Given the description of an element on the screen output the (x, y) to click on. 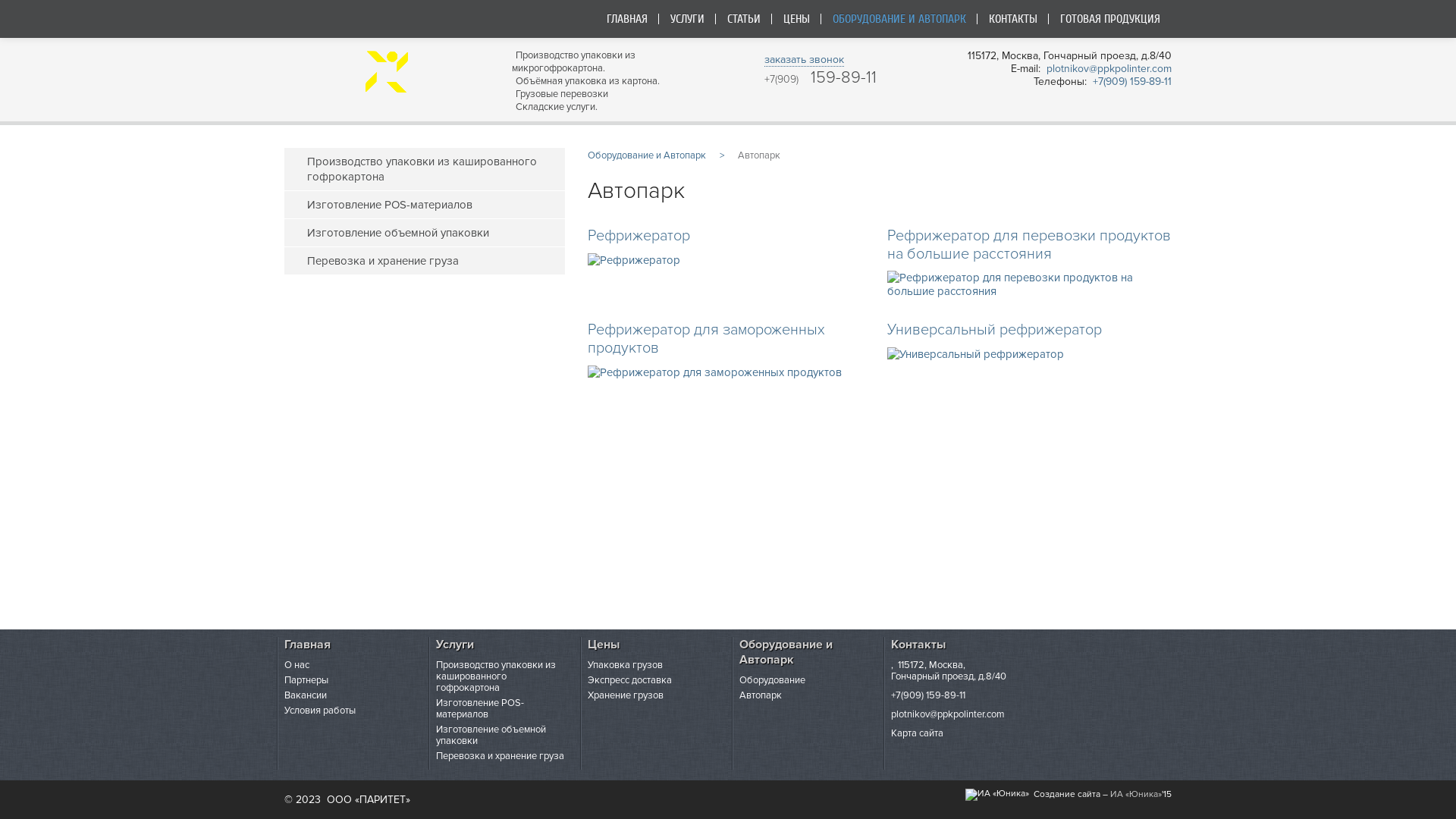
+7(909) 159-89-11 Element type: text (1131, 81)
+7(909)   159-89-11 Element type: text (820, 78)
+7(909) 159-89-11 Element type: text (928, 695)
plotnikov@ppkpolinter.com Element type: text (947, 714)
plotnikov@ppkpolinter.com Element type: text (1108, 68)
